Given the description of an element on the screen output the (x, y) to click on. 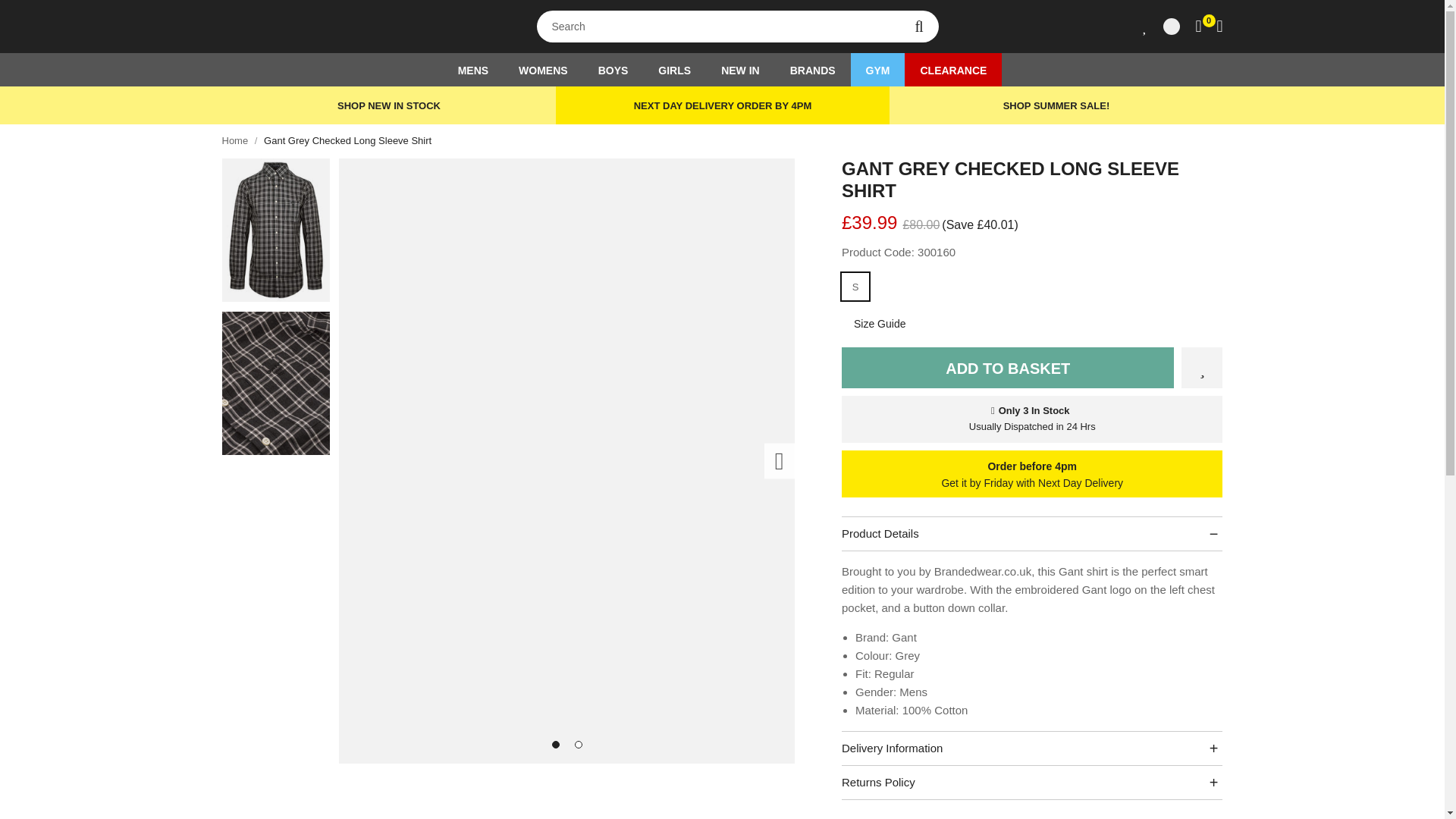
MENS (472, 69)
Branded Wear (315, 26)
submit (918, 26)
Add to Basket (1007, 367)
Home (234, 140)
